Given the description of an element on the screen output the (x, y) to click on. 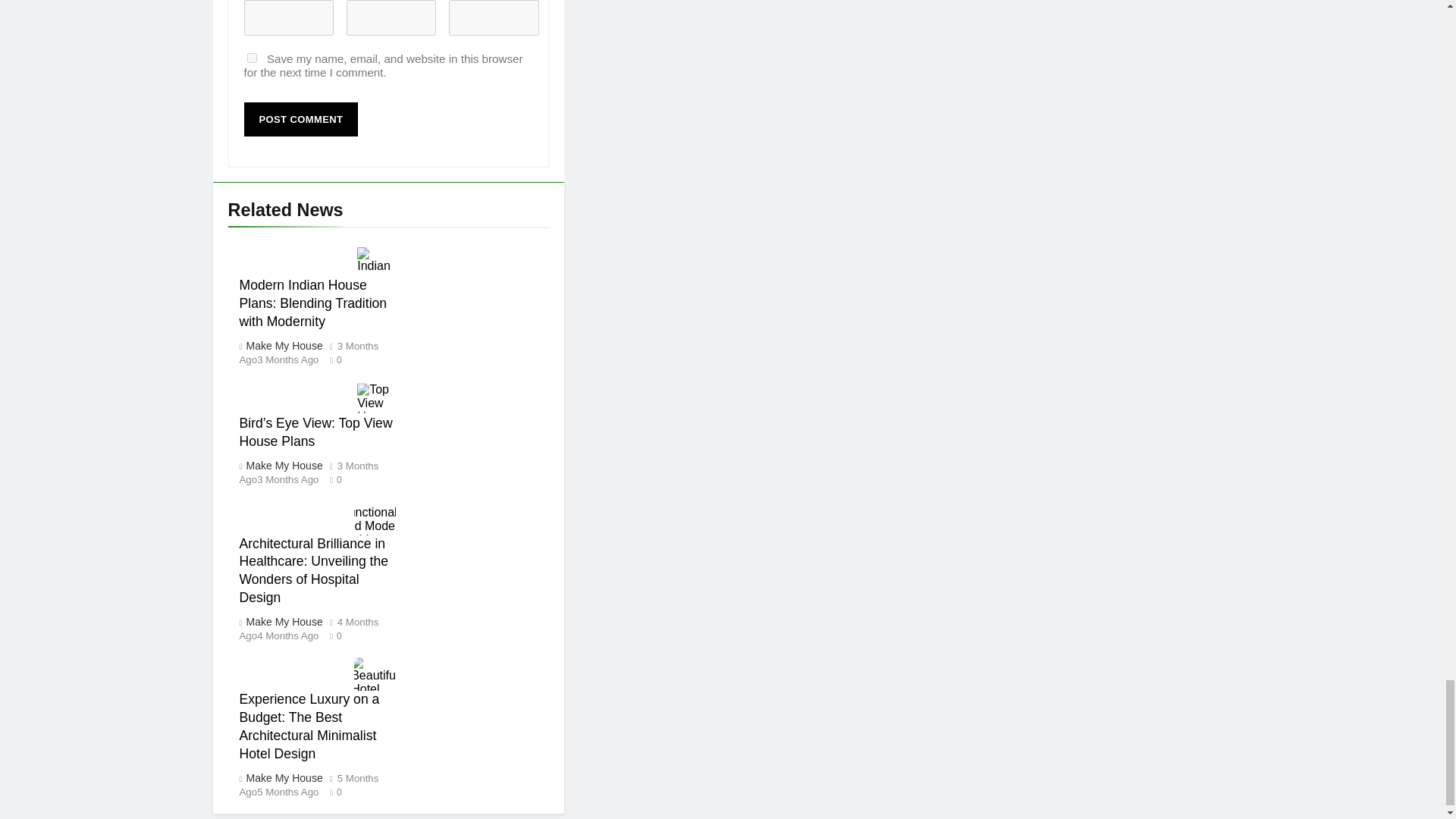
yes (252, 58)
Post Comment (301, 119)
